Given the description of an element on the screen output the (x, y) to click on. 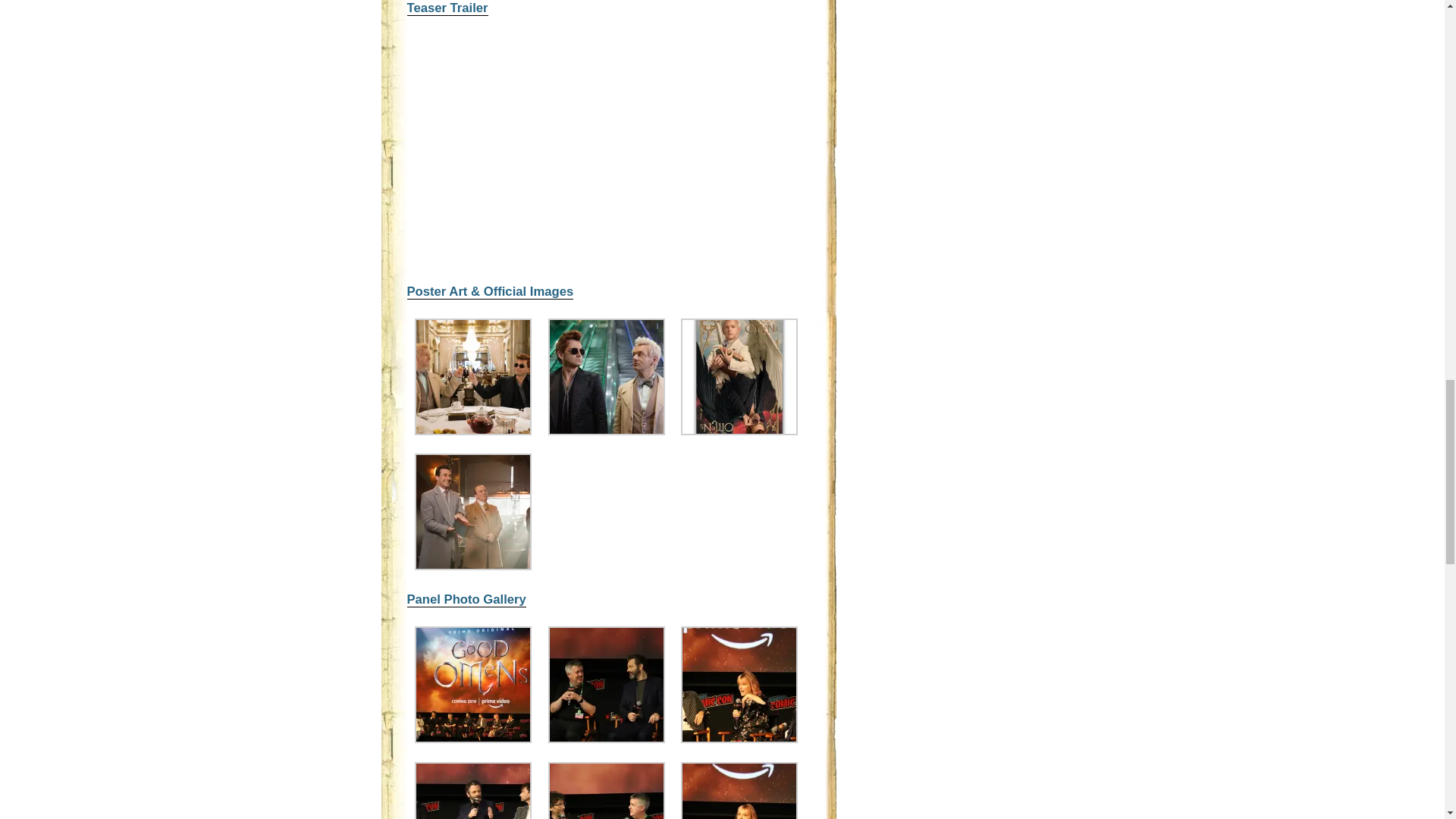
Good-Omens-Official-Image-NYCC.FNL (472, 431)
Good Omens Official Image NYCC (606, 431)
Good Omens Cast Panel NYCC (739, 739)
Good-Omens-Official-Poster-NYCC.FNL (739, 431)
Good Omens Official Image NYCC (472, 566)
Good Omens Cast Panel NYCC (606, 739)
Good Omens Cast Panel NYCC (472, 739)
